Given the description of an element on the screen output the (x, y) to click on. 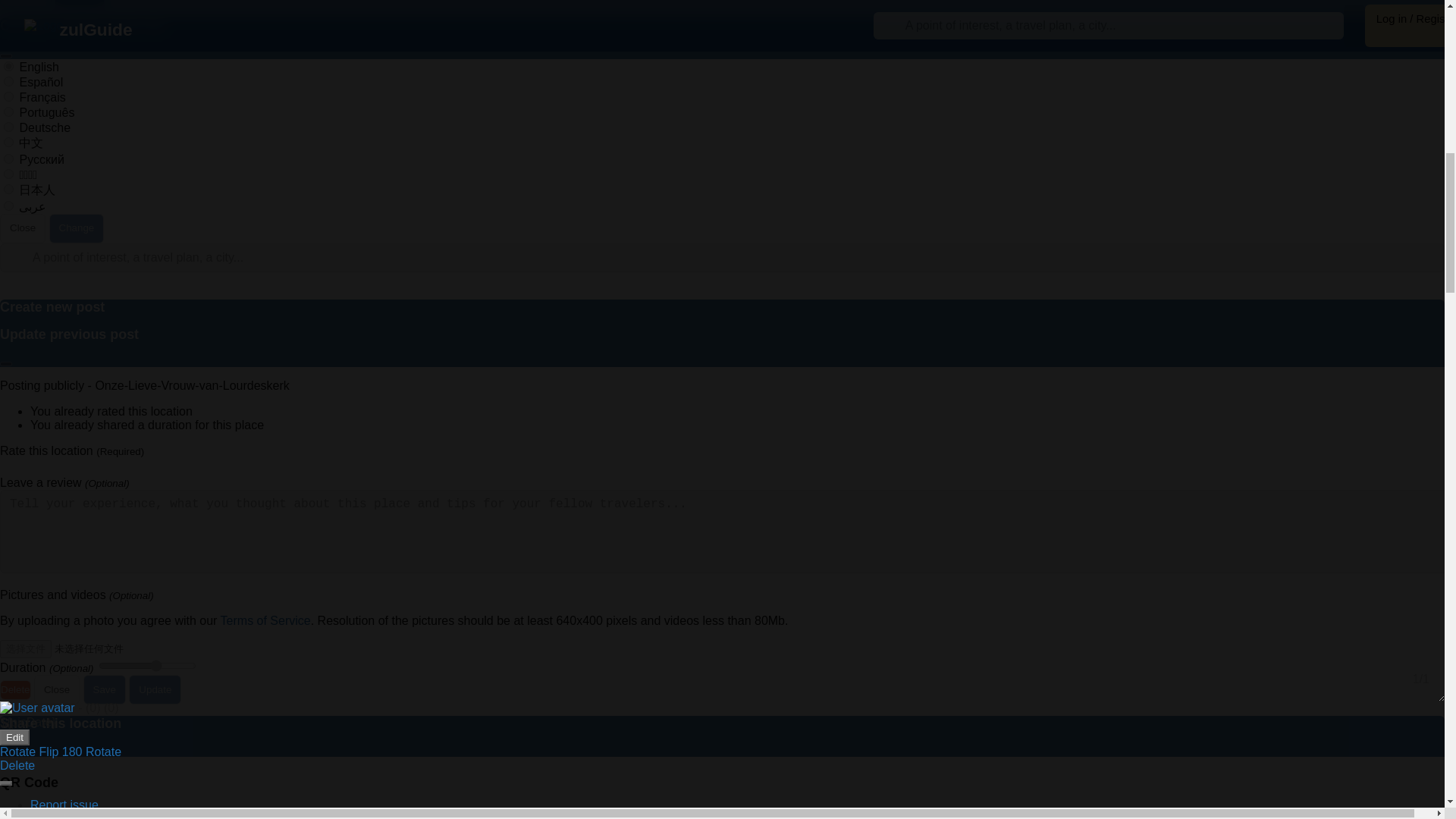
Close (56, 689)
Close (22, 228)
ru (8, 158)
es (8, 81)
Terms of Service (266, 620)
Report (79, 3)
Delete (15, 690)
pt (8, 112)
Update (154, 689)
4 (147, 665)
